Given the description of an element on the screen output the (x, y) to click on. 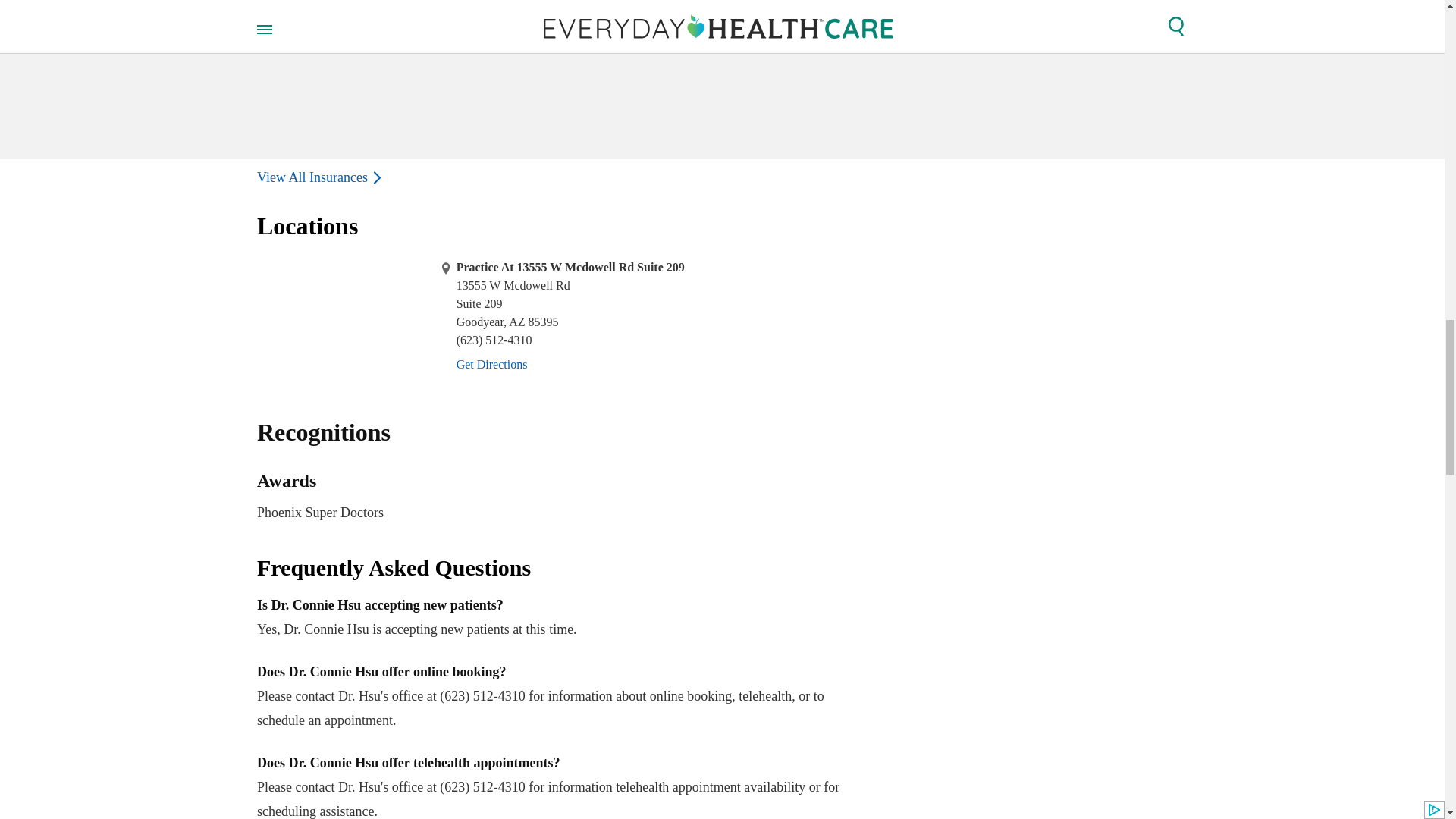
Get Directions (560, 497)
